Given the description of an element on the screen output the (x, y) to click on. 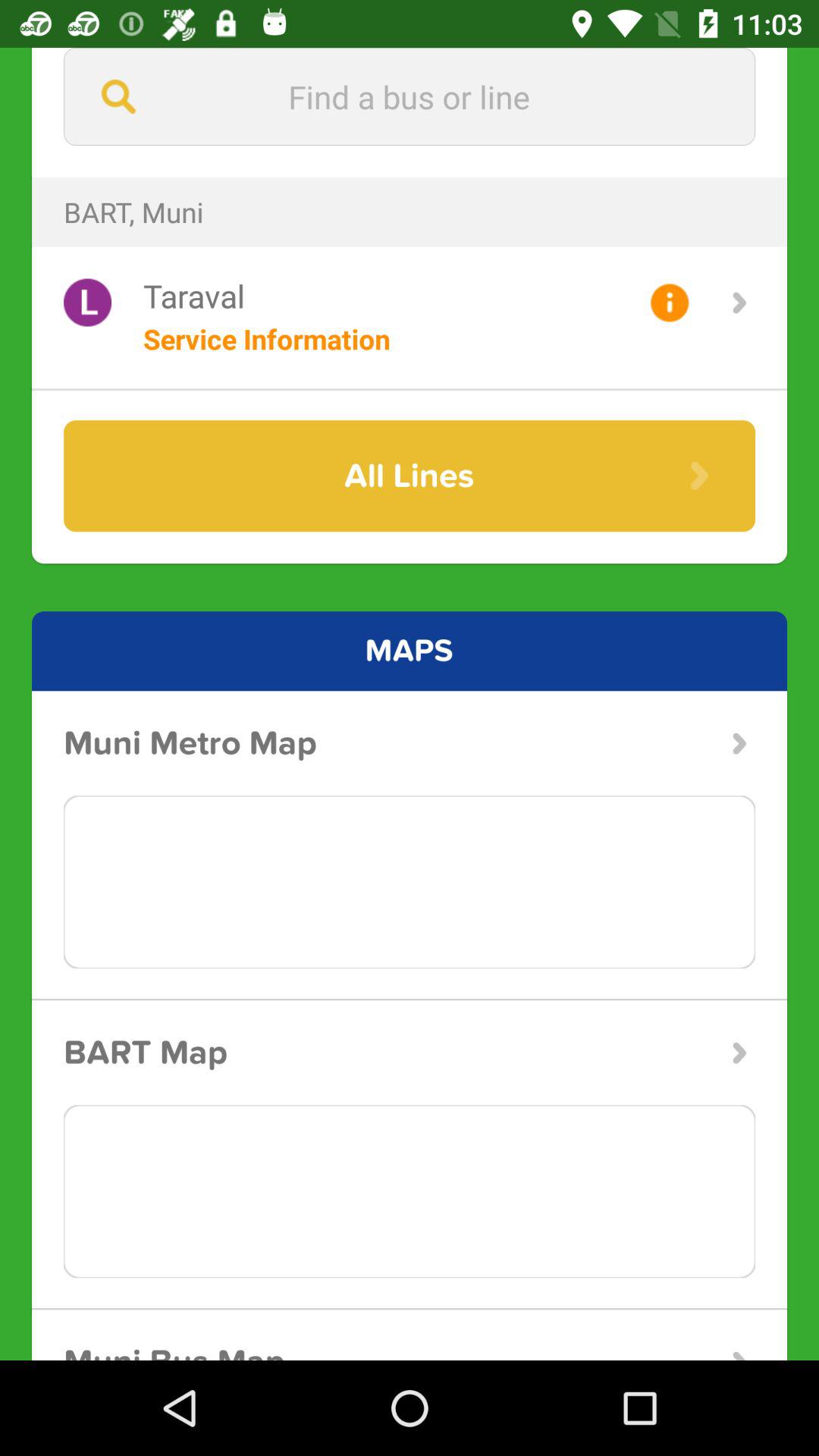
click on i button (669, 302)
